Given the description of an element on the screen output the (x, y) to click on. 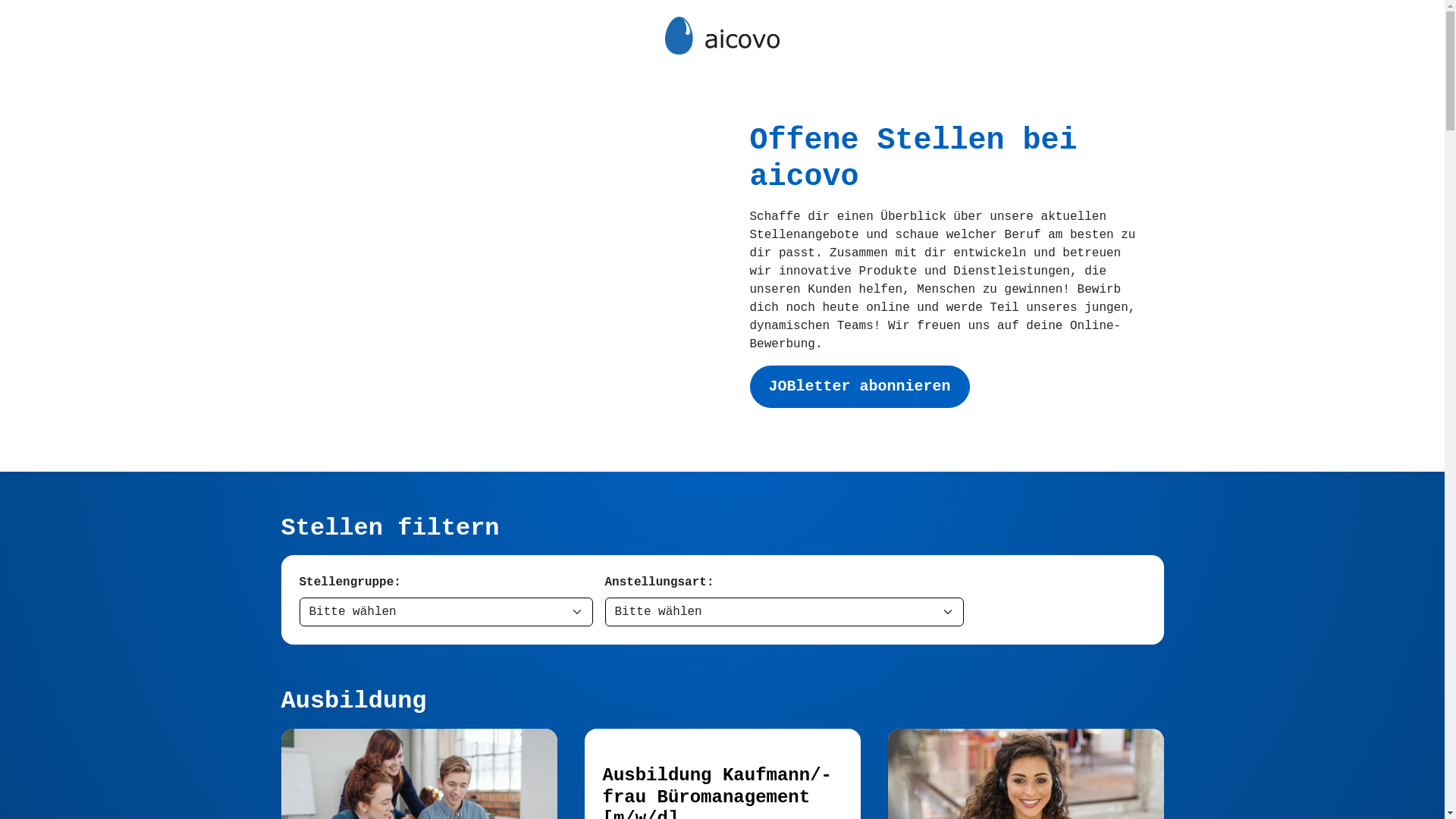
JOBletter abonnieren Element type: text (859, 386)
